Given the description of an element on the screen output the (x, y) to click on. 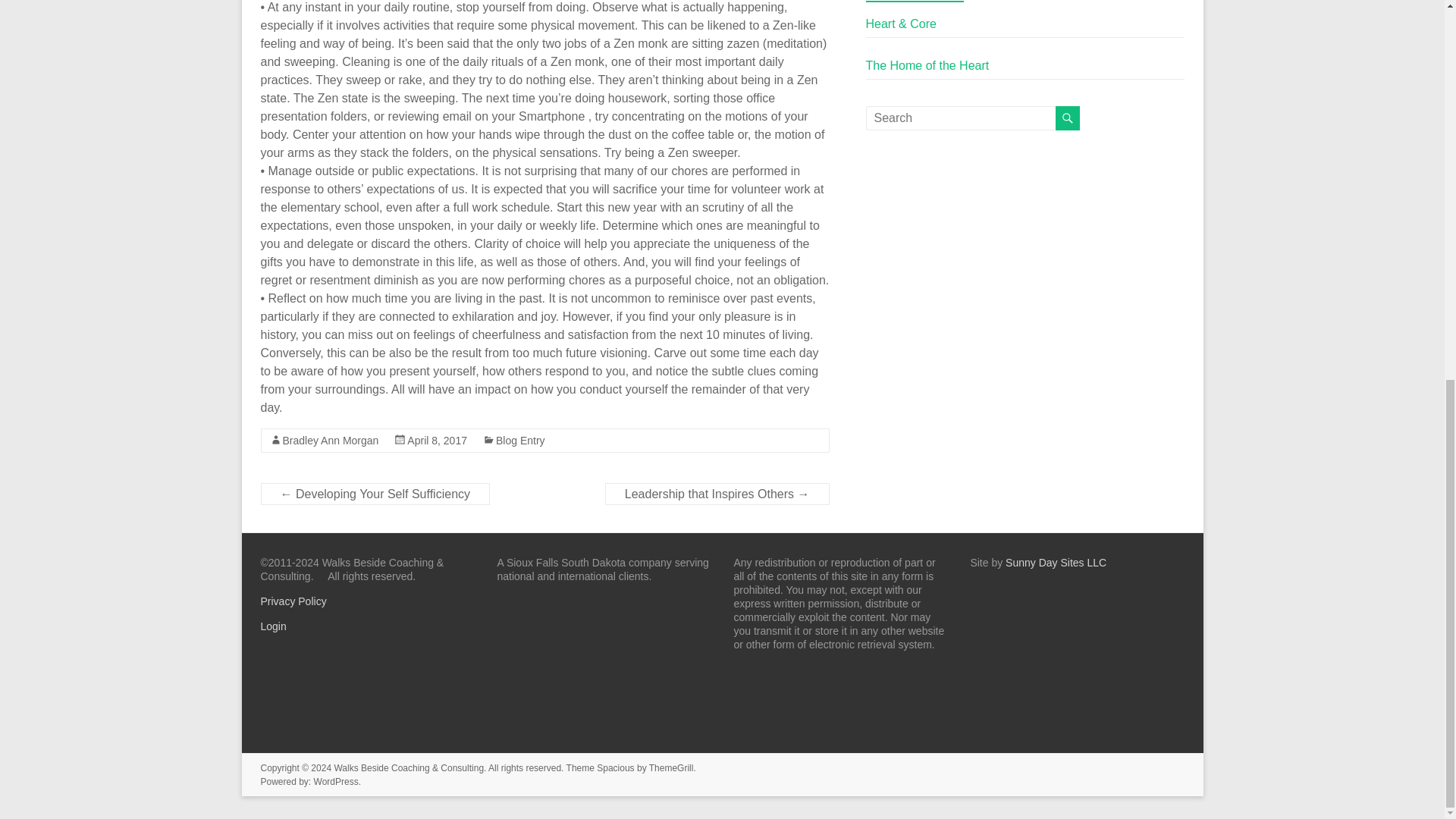
11:09 am (437, 440)
WordPress (336, 781)
Bradley Ann Morgan (330, 440)
Ashburn website designer (1056, 562)
Spacious (614, 767)
April 8, 2017 (437, 440)
Blog Entry (520, 440)
